Given the description of an element on the screen output the (x, y) to click on. 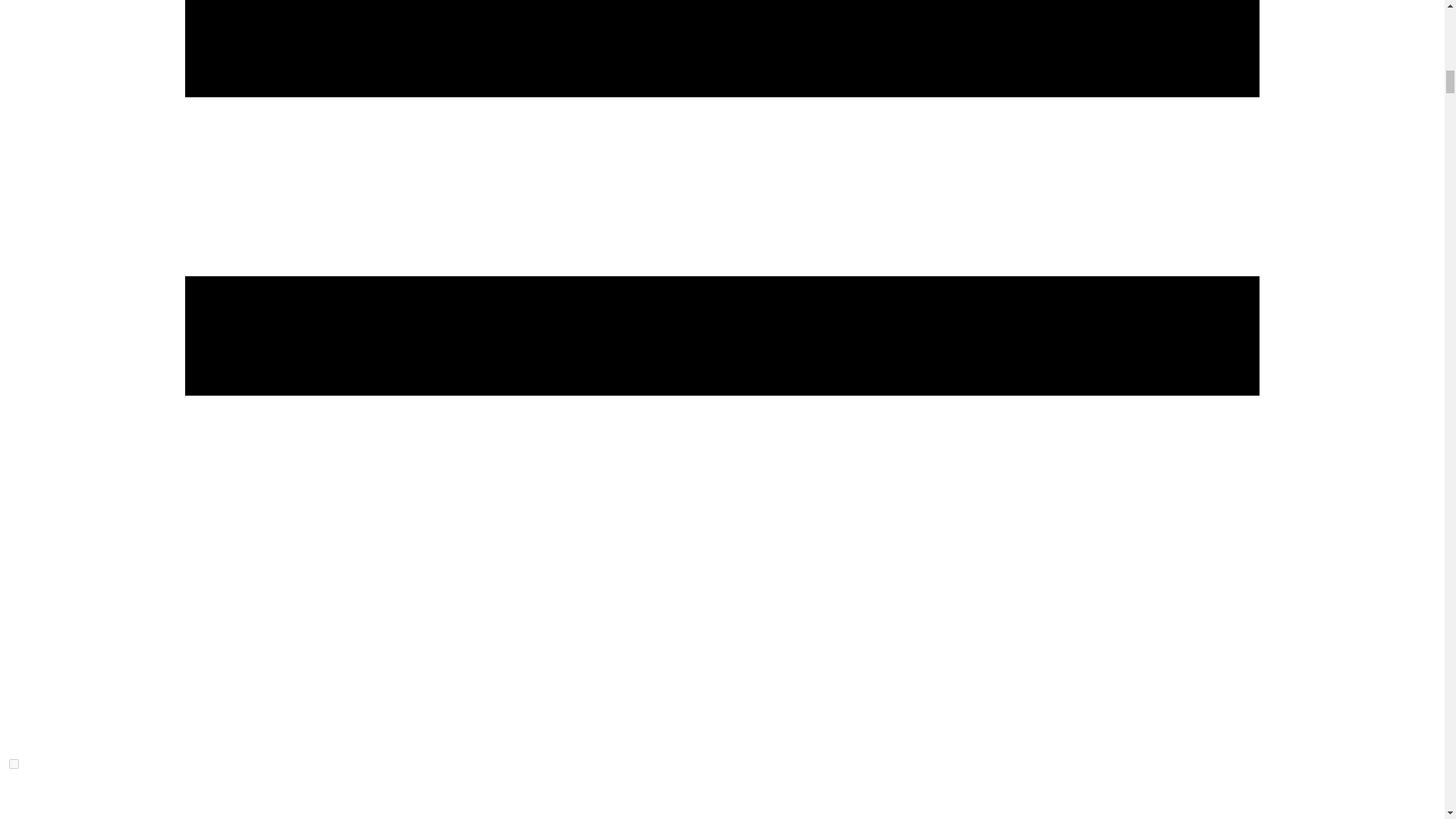
on (13, 764)
